Given the description of an element on the screen output the (x, y) to click on. 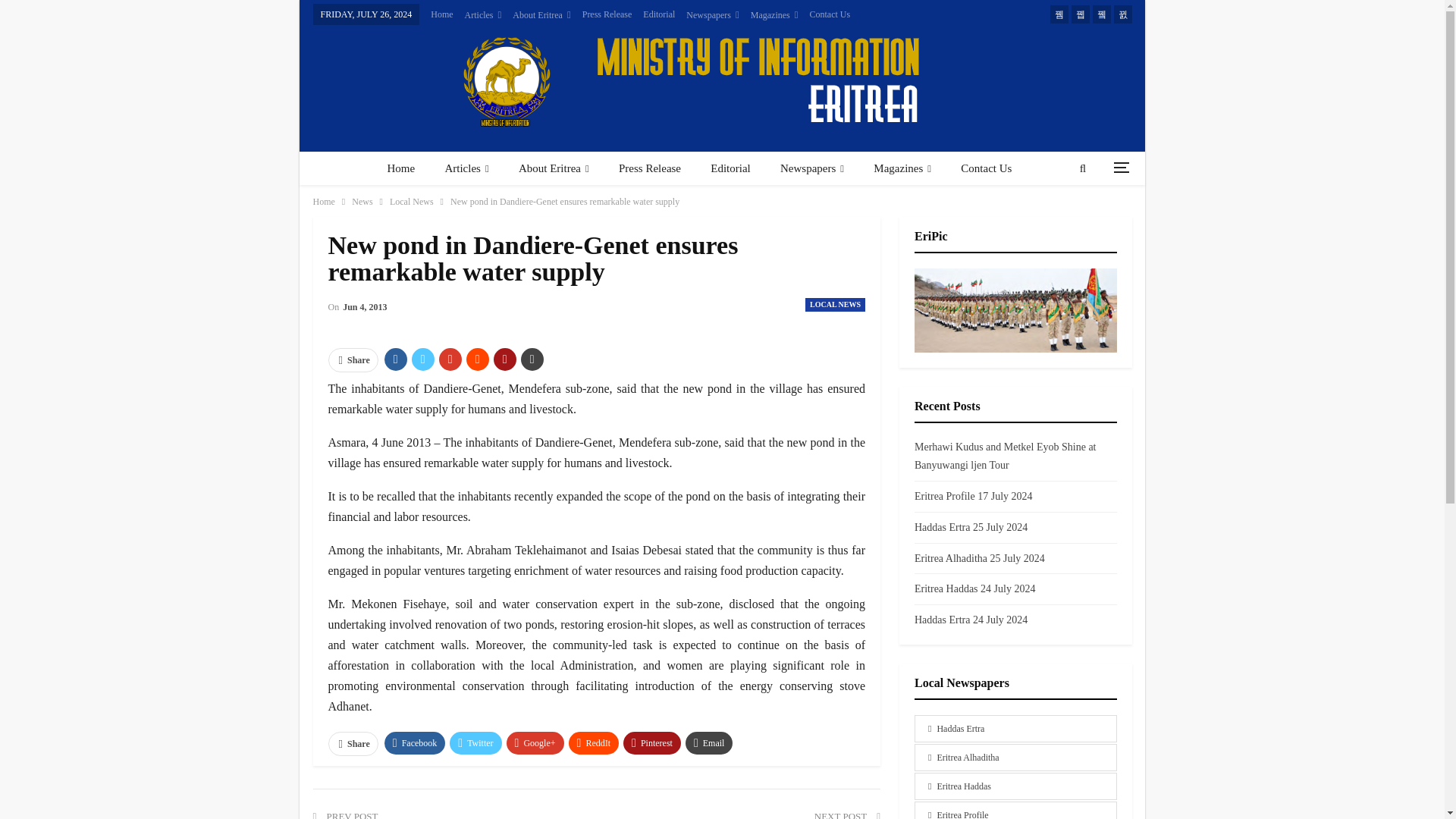
Contact Us (829, 14)
Magazines (774, 14)
Home (400, 168)
Home (441, 14)
About Eritrea (541, 14)
Press Release (606, 14)
Newspapers (711, 14)
Articles (466, 168)
Editorial (659, 14)
Articles (483, 14)
